Given the description of an element on the screen output the (x, y) to click on. 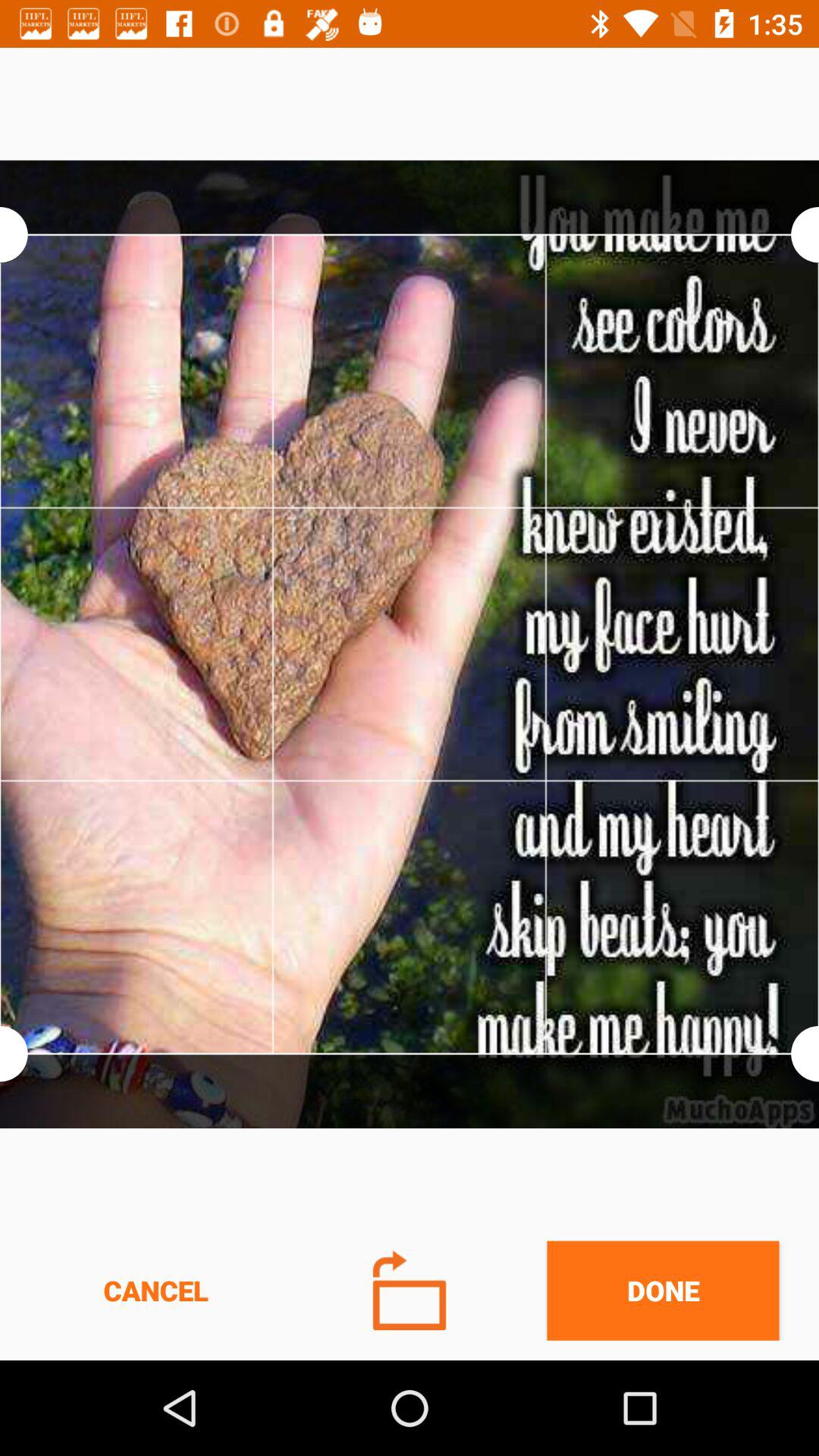
jump until the done button (663, 1290)
